Given the description of an element on the screen output the (x, y) to click on. 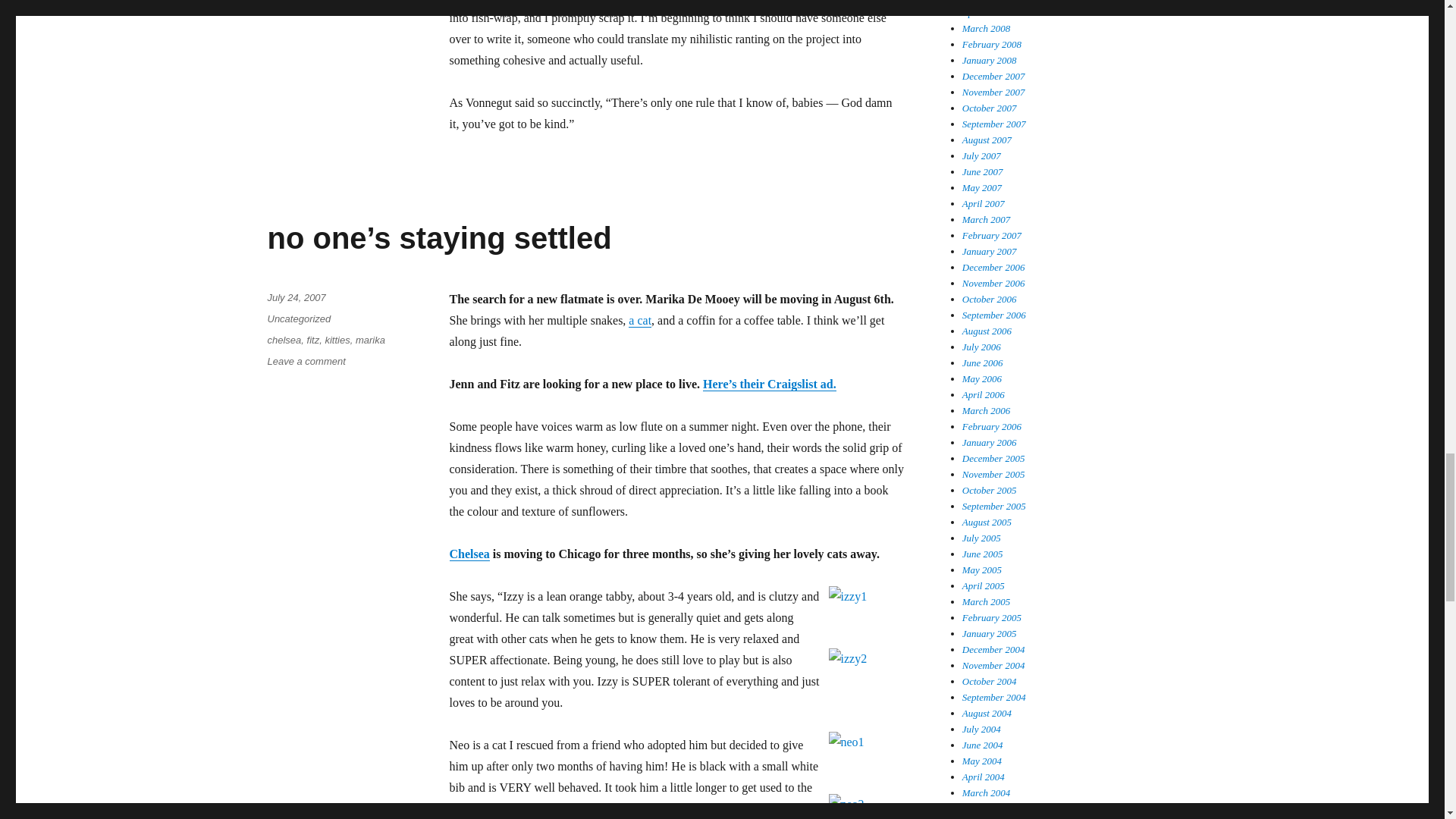
Photo Sharing (866, 617)
Photo Sharing (866, 762)
Photo Sharing (866, 687)
Photo Sharing (866, 806)
